Given the description of an element on the screen output the (x, y) to click on. 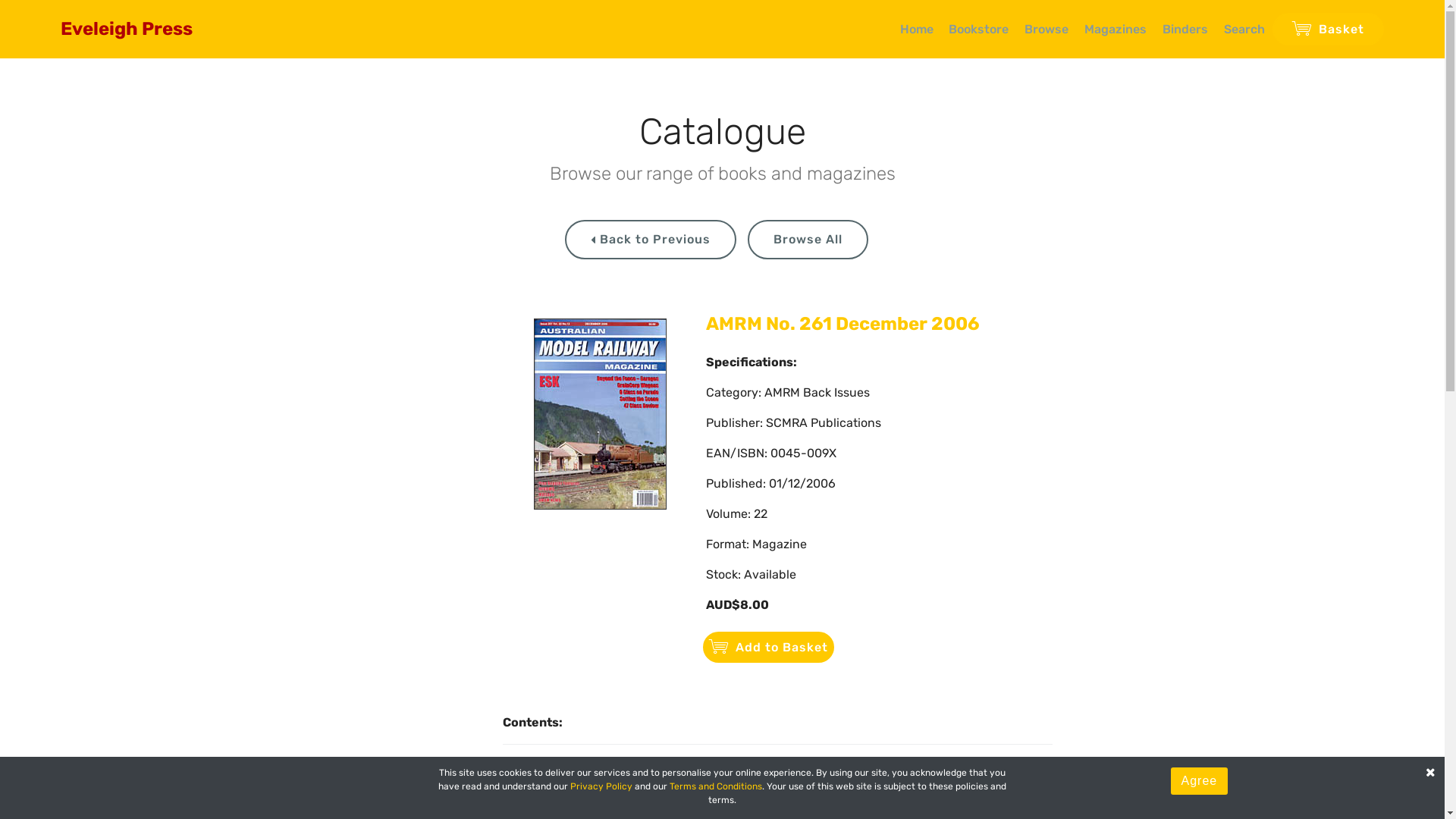
Product image Element type: hover (599, 413)
Home Element type: text (916, 28)
Browse Element type: text (1046, 28)
Basket Element type: text (1327, 28)
Privacy Policy Element type: text (601, 786)
Add to Basket Element type: text (768, 647)
Search Element type: text (1243, 28)
Agree Element type: text (1199, 780)
Magazines Element type: text (1115, 28)
Bookstore Element type: text (978, 28)
 Back to Previous Element type: text (650, 239)
Terms and Conditions Element type: text (715, 786)
Browse All Element type: text (807, 239)
Eveleigh Press Element type: text (138, 28)
Binders Element type: text (1185, 28)
AMRM No. 261 December 2006 Element type: text (842, 323)
